Given the description of an element on the screen output the (x, y) to click on. 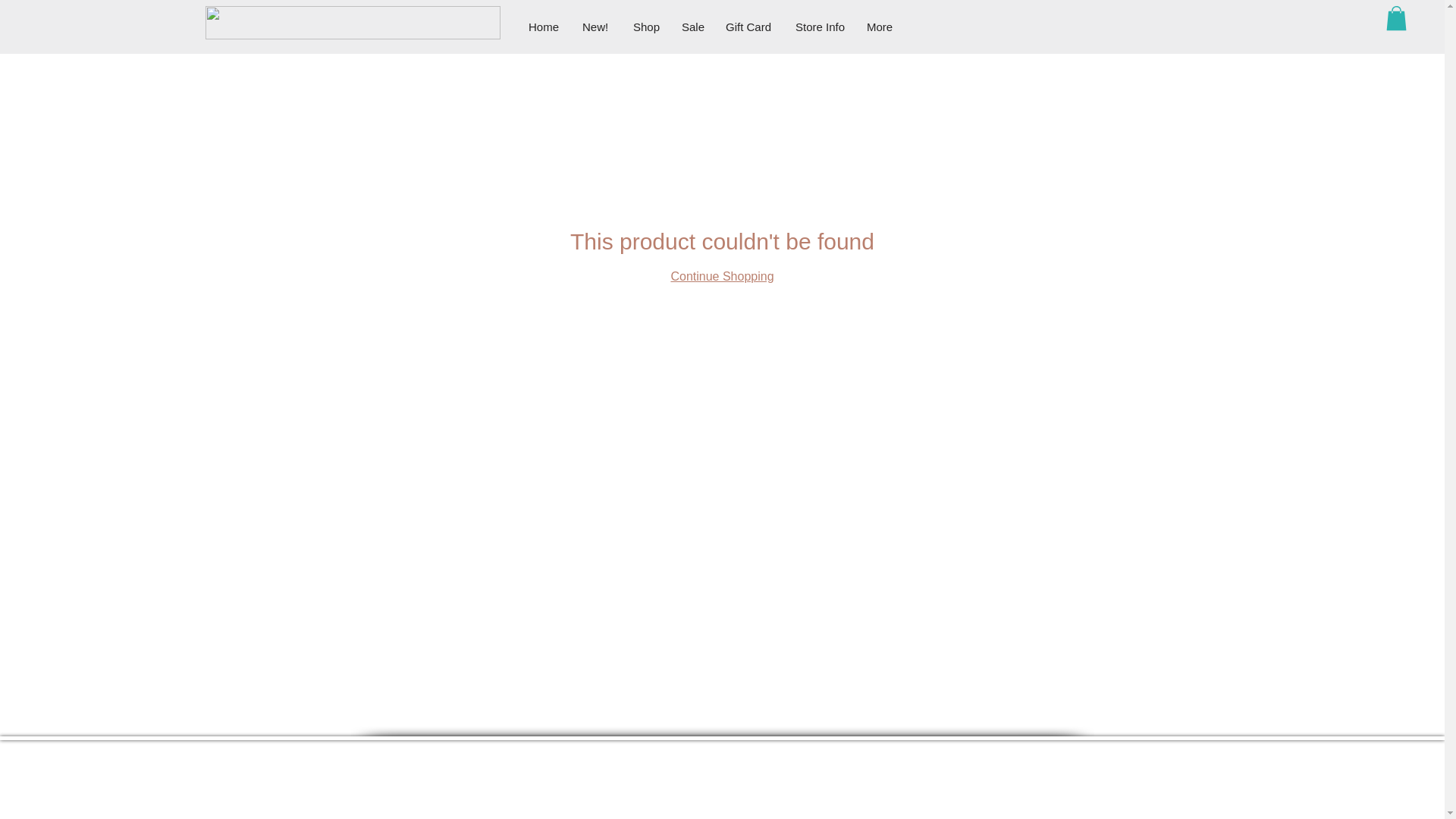
Home (543, 27)
Continue Shopping (721, 276)
Gift Card (749, 27)
Shop (645, 27)
New! (595, 27)
Sale (691, 27)
Store Info (820, 27)
